Given the description of an element on the screen output the (x, y) to click on. 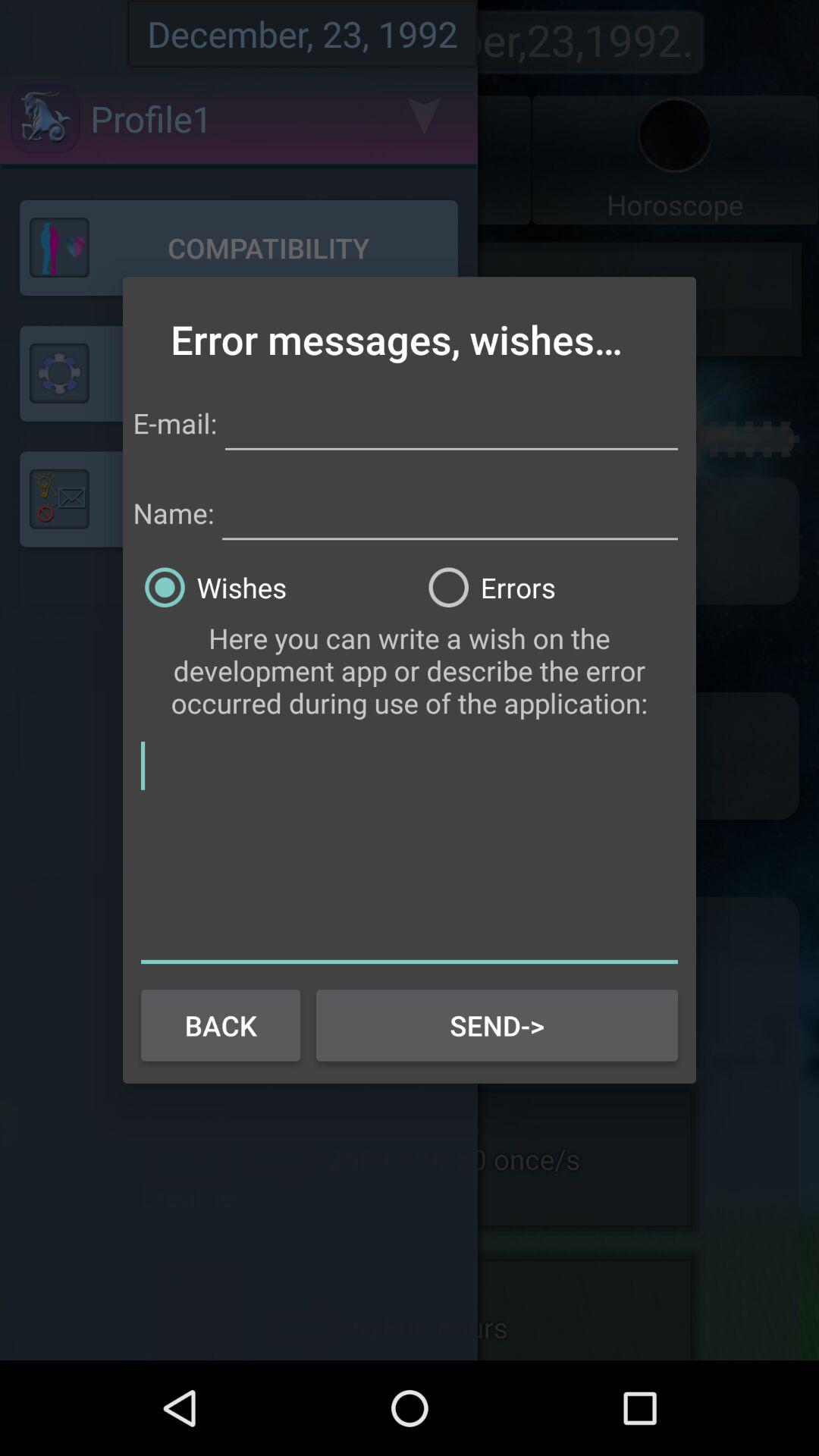
launch the errors radio button (550, 587)
